Given the description of an element on the screen output the (x, y) to click on. 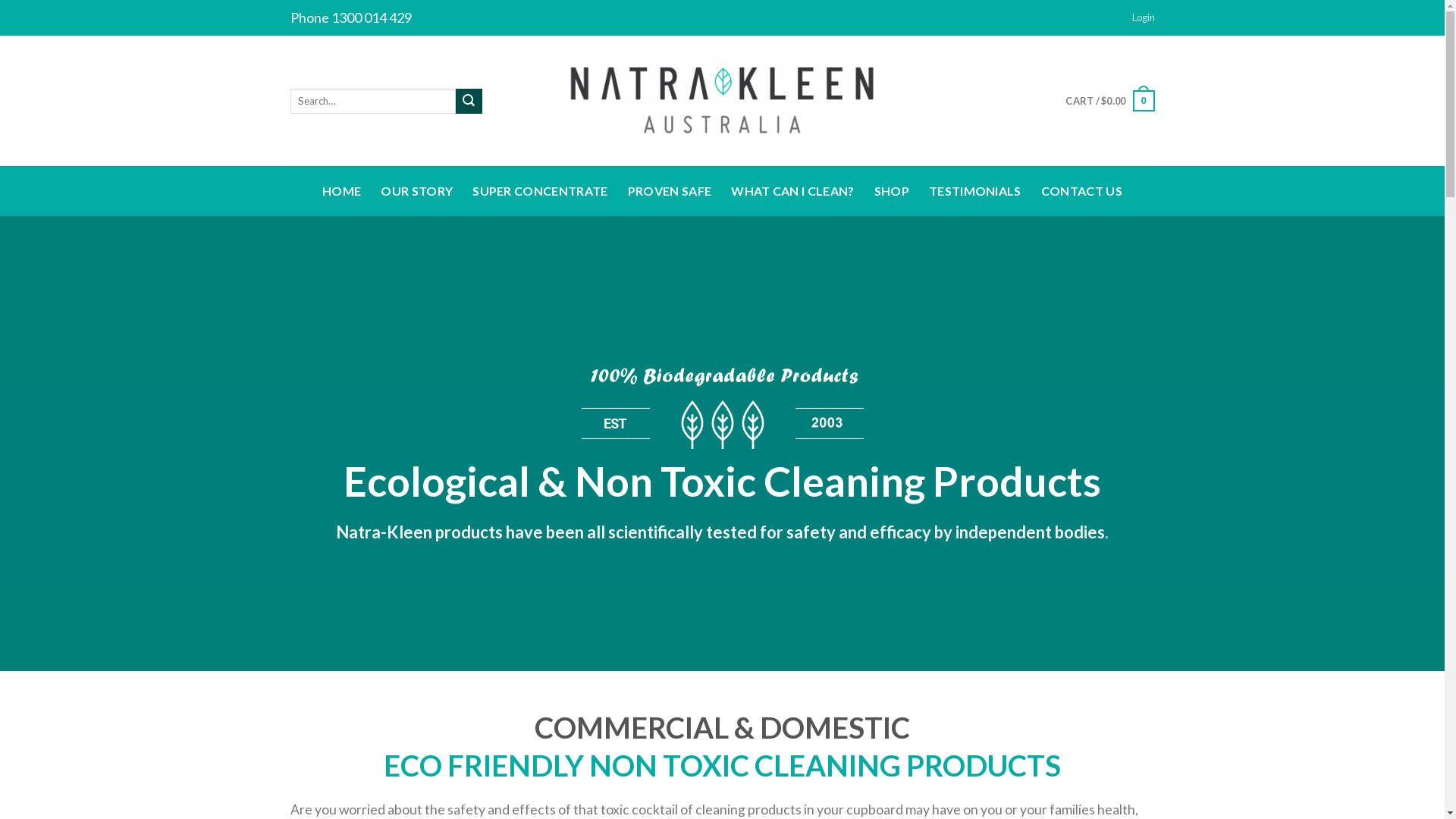
HOME Element type: text (341, 190)
OUR STORY Element type: text (416, 190)
Phone 1300 014 429 Element type: text (350, 17)
WHAT CAN I CLEAN? Element type: text (792, 190)
CART / $0.00
0 Element type: text (1109, 100)
SHOP Element type: text (891, 190)
TESTIMONIALS Element type: text (974, 190)
Login Element type: text (1142, 17)
PROVEN SAFE Element type: text (669, 190)
Search Element type: text (468, 101)
CONTACT US Element type: text (1081, 190)
SUPER CONCENTRATE Element type: text (539, 190)
